Given the description of an element on the screen output the (x, y) to click on. 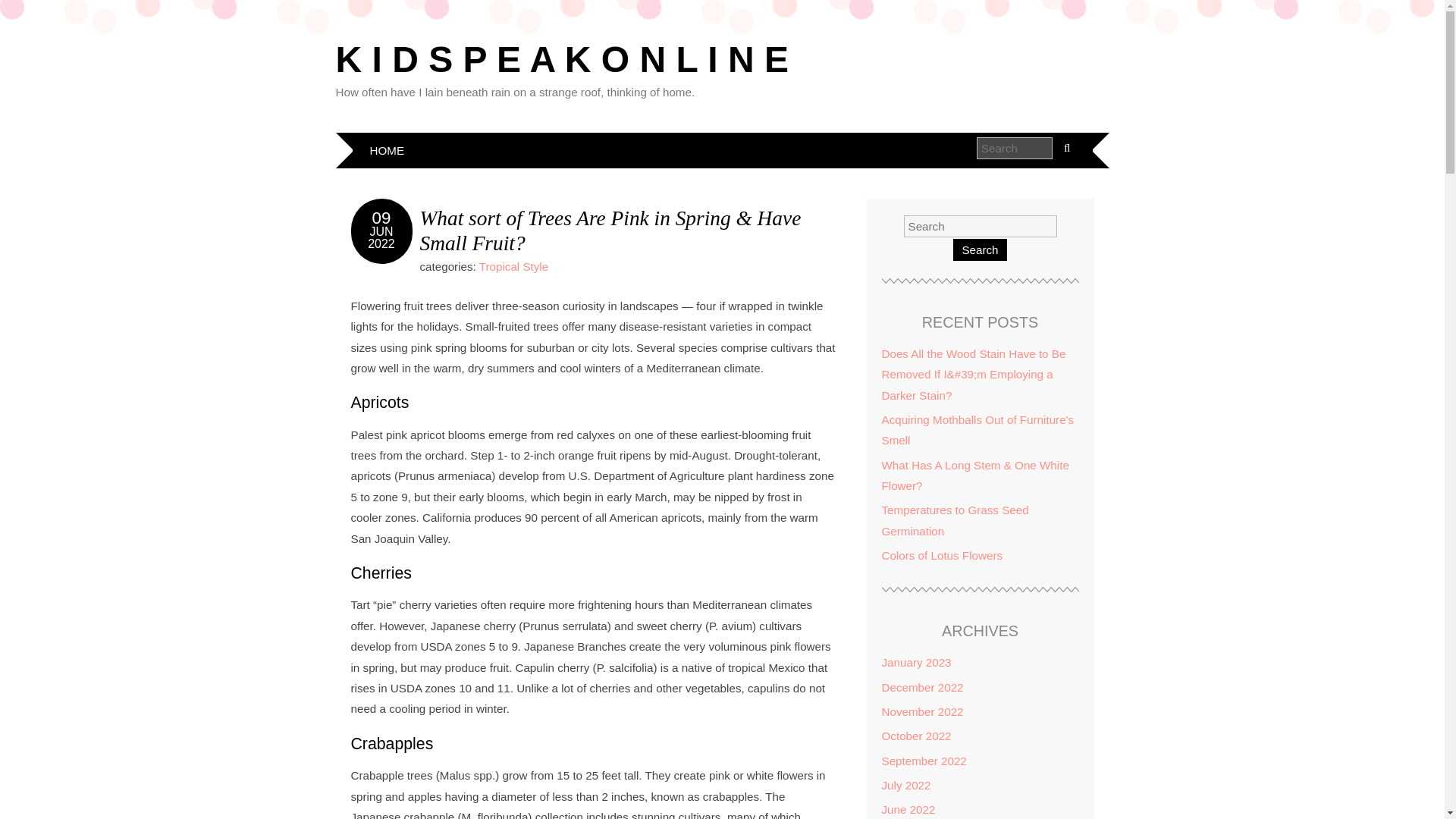
January 2023 (915, 662)
Tropical Style (513, 266)
Colors of Lotus Flowers (941, 554)
Acquiring Mothballs Out of Furniture's Smell (977, 429)
July 2022 (905, 784)
Temperatures to Grass Seed Germination (953, 520)
K I D S P E A K O N L I N E (560, 59)
November 2022 (921, 711)
09 (381, 217)
December 2022 (921, 686)
